Given the description of an element on the screen output the (x, y) to click on. 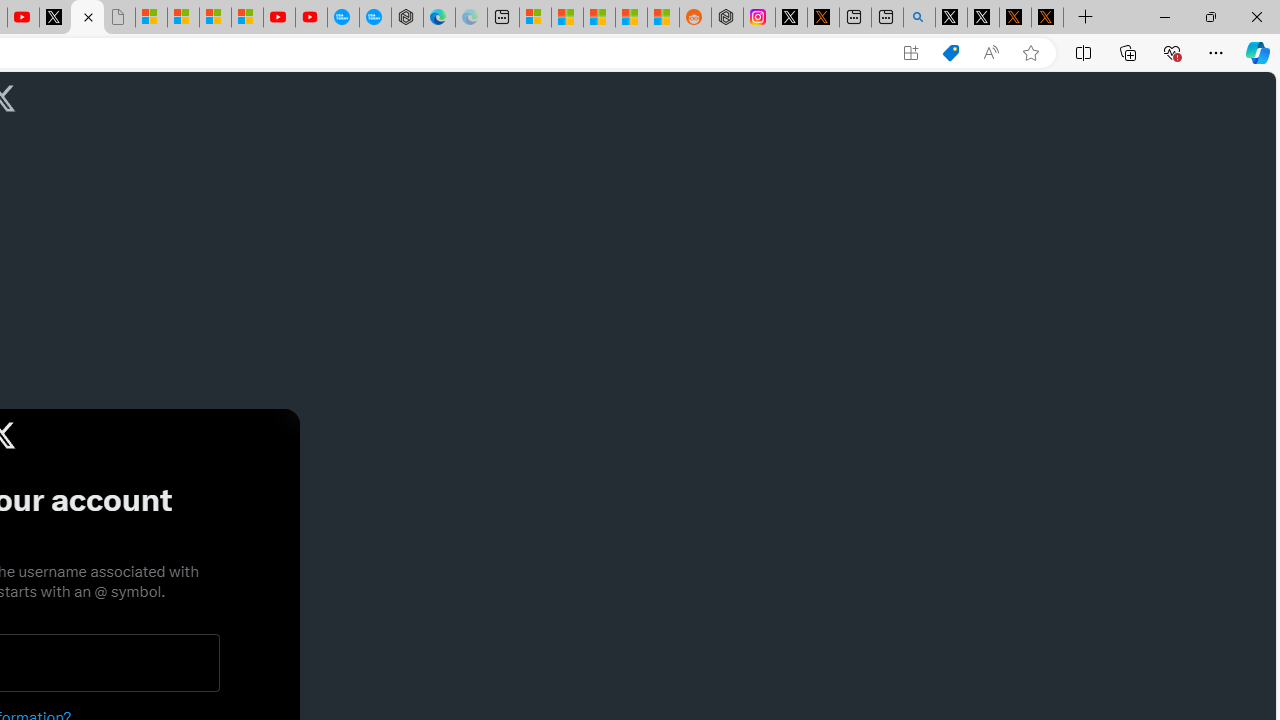
The most popular Google 'how to' searches (374, 17)
GitHub (@github) / X (983, 17)
Gloom - YouTube (279, 17)
Profile / X (950, 17)
Shanghai, China Weather trends | Microsoft Weather (663, 17)
Nordace - Nordace has arrived Hong Kong (407, 17)
